Given the description of an element on the screen output the (x, y) to click on. 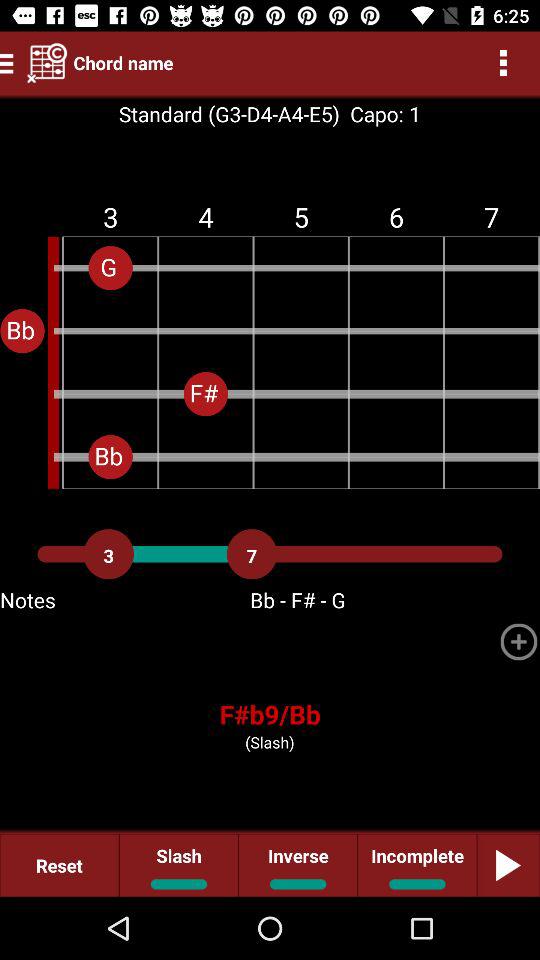
choose the item to the left of the chord name icon (47, 62)
